Given the description of an element on the screen output the (x, y) to click on. 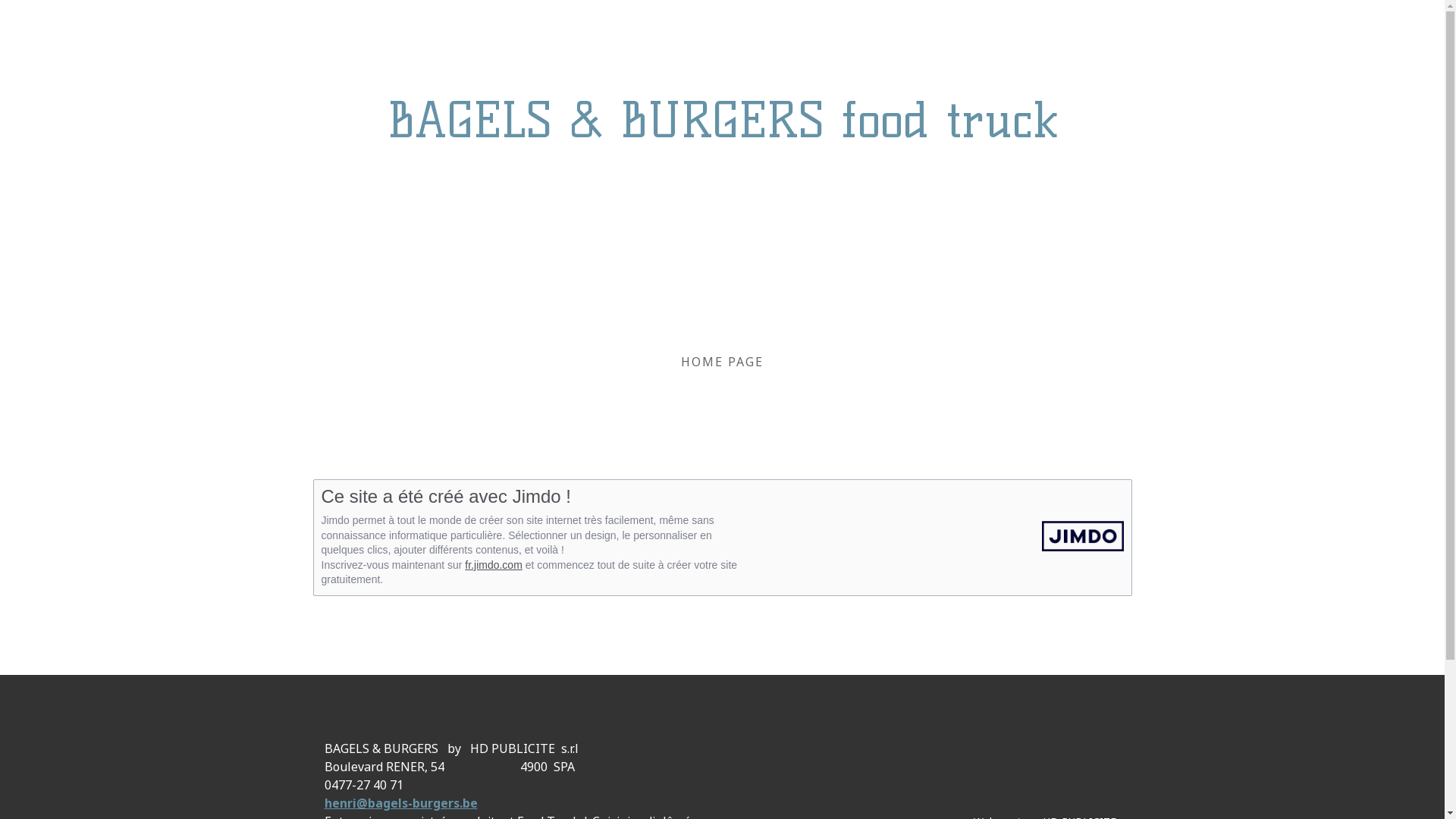
HOME PAGE Element type: text (721, 361)
BAGELS & BURGERS food truck Element type: text (722, 119)
fr.jimdo.com Element type: text (492, 564)
Jimdo Element type: hover (1078, 535)
henri@bagels-burgers.be Element type: text (400, 802)
